Given the description of an element on the screen output the (x, y) to click on. 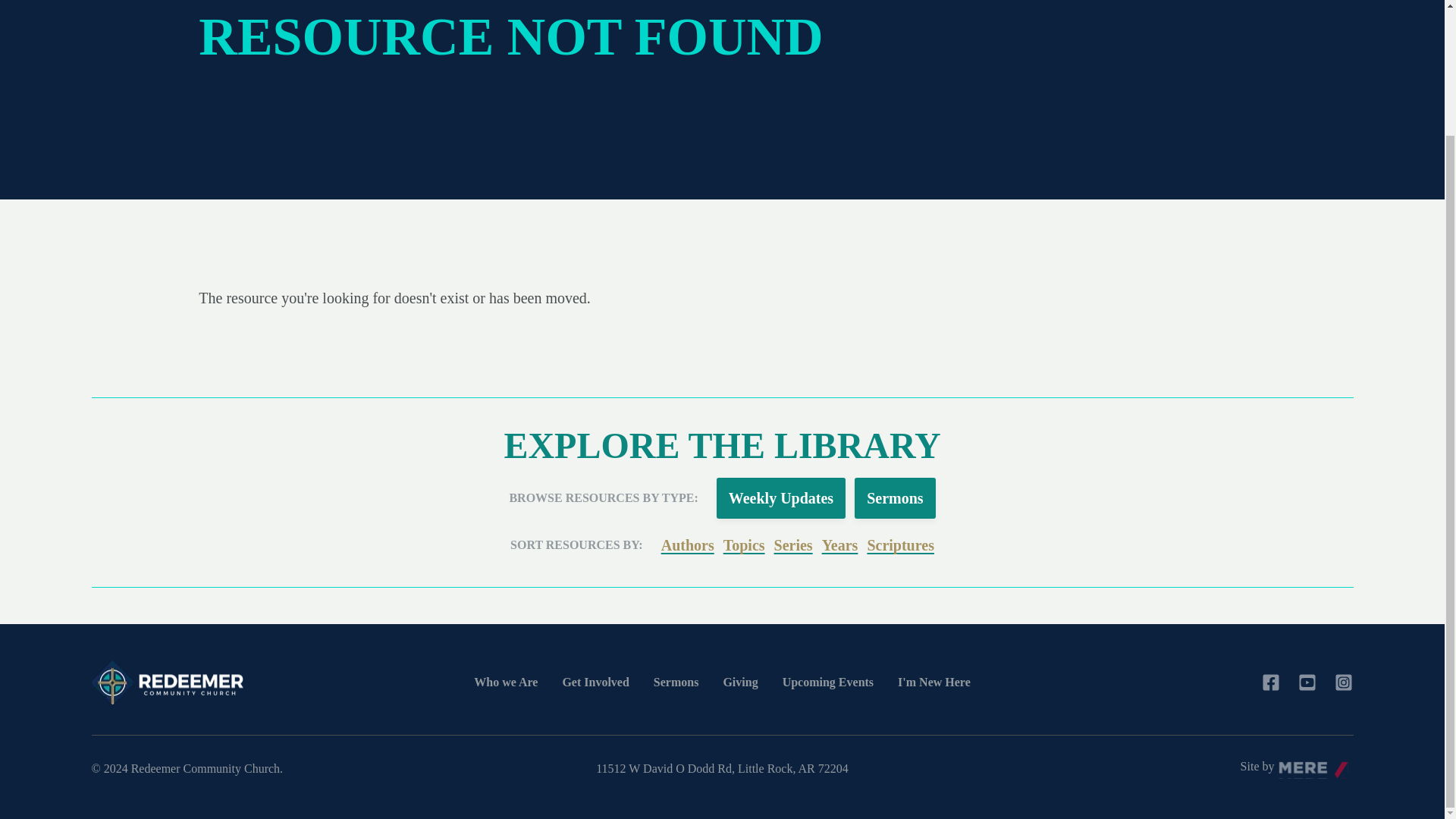
Facebook (1270, 682)
Instagram (1343, 682)
Sermons (894, 497)
Years (840, 545)
Mere (1316, 766)
Youtube (1307, 682)
Authors (687, 545)
Weekly Updates (780, 497)
Topics (744, 545)
Giving (739, 681)
Who we Are (505, 681)
Upcoming Events (828, 681)
Get Involved (595, 681)
Sermons (675, 681)
Series (793, 545)
